Given the description of an element on the screen output the (x, y) to click on. 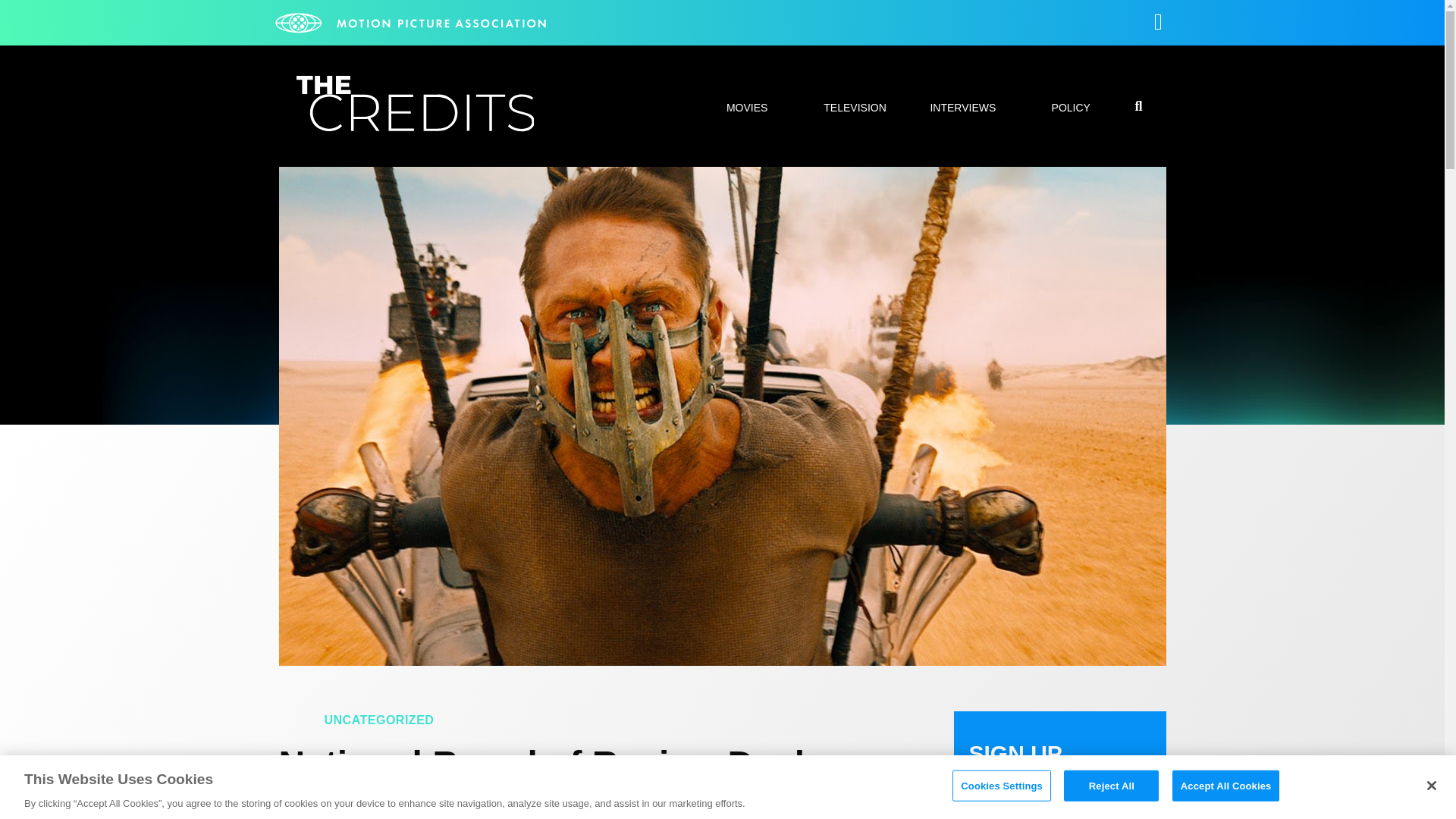
Search (1077, 408)
